Given the description of an element on the screen output the (x, y) to click on. 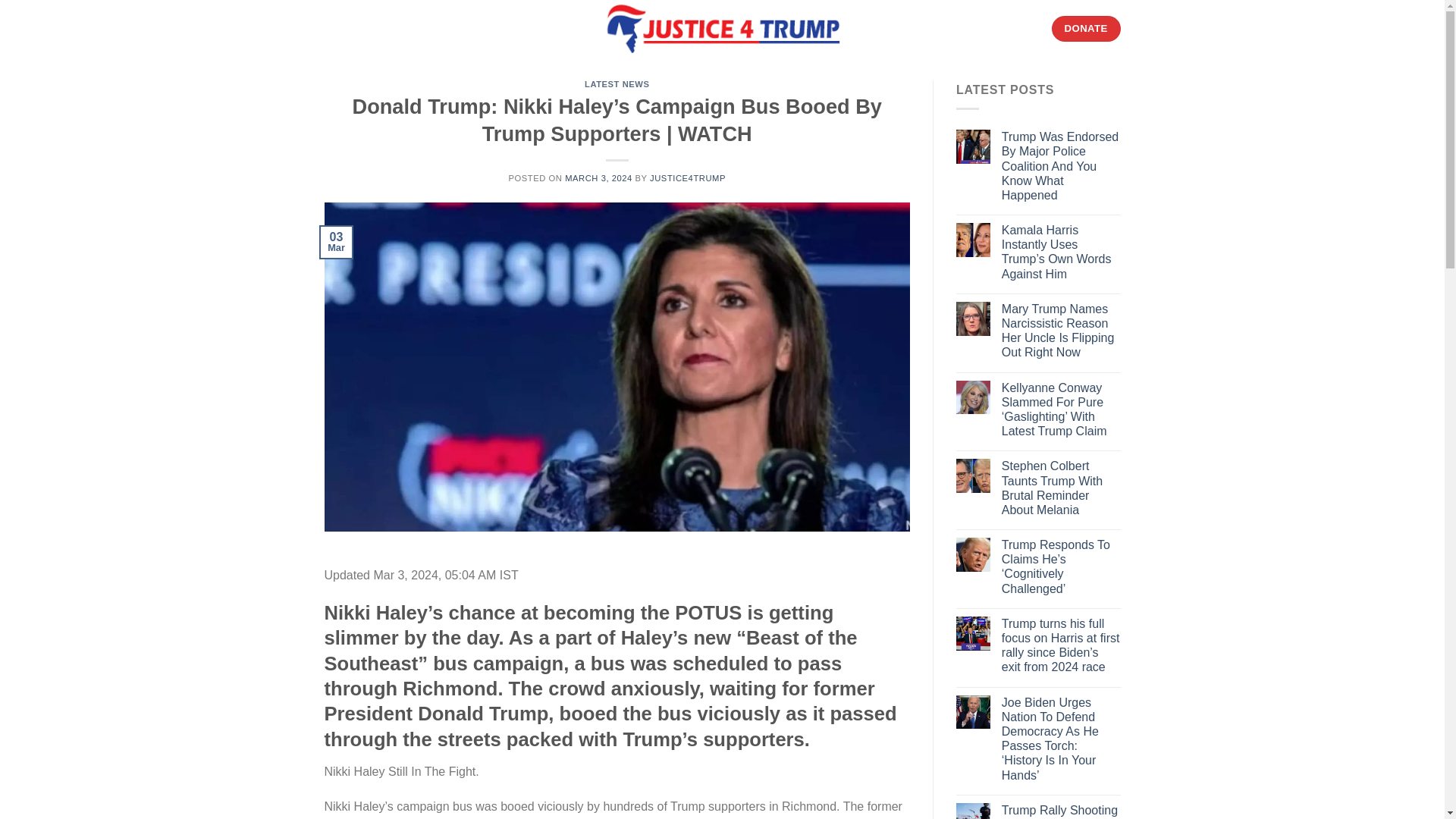
DONATE (1086, 28)
JUSTICE4TRUMP (687, 177)
Justice 4 Trump (721, 29)
MENU (350, 27)
MARCH 3, 2024 (597, 177)
LATEST NEWS (617, 83)
